Given the description of an element on the screen output the (x, y) to click on. 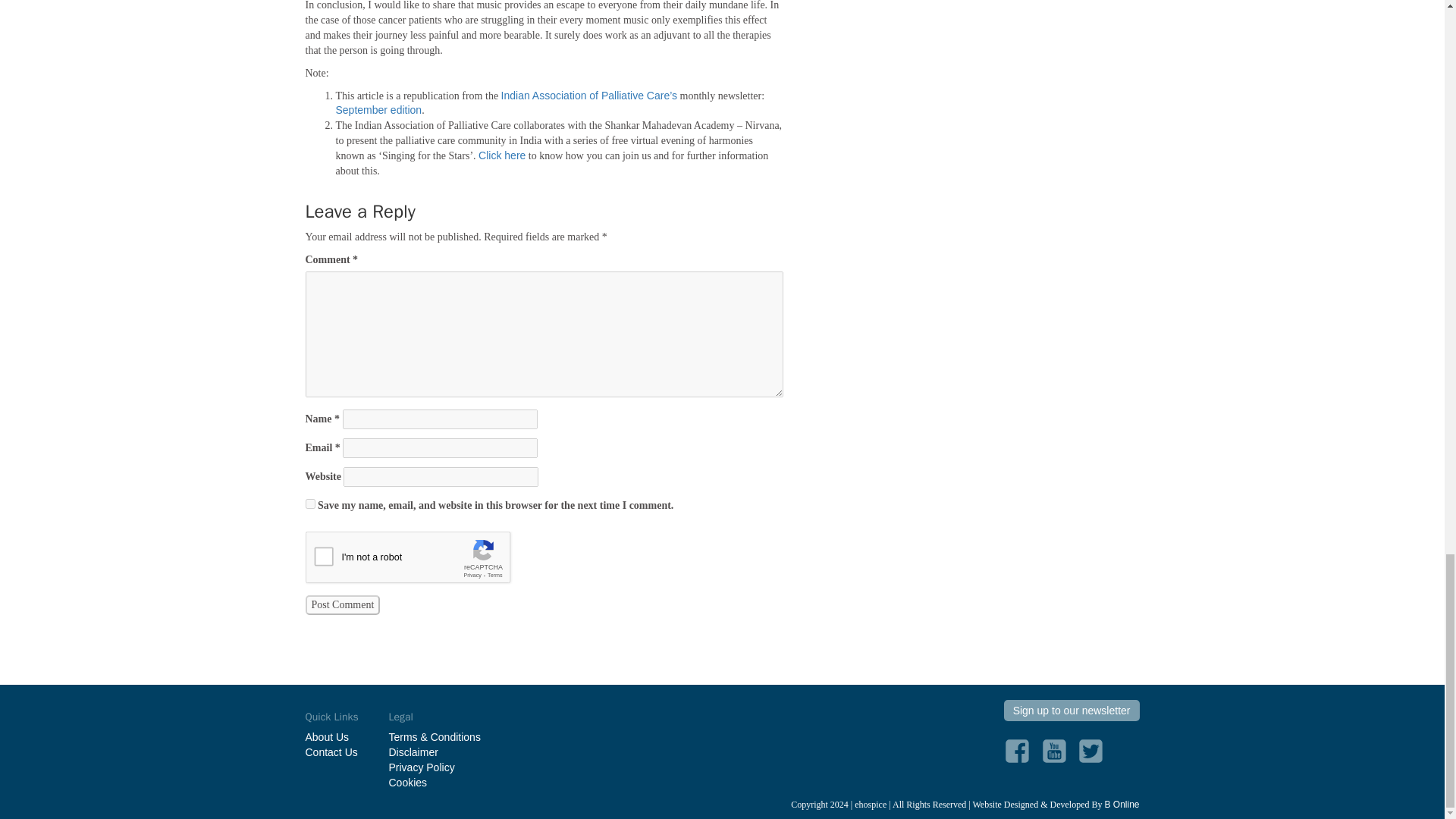
reCAPTCHA (419, 560)
yes (309, 503)
Post Comment (342, 605)
